Given the description of an element on the screen output the (x, y) to click on. 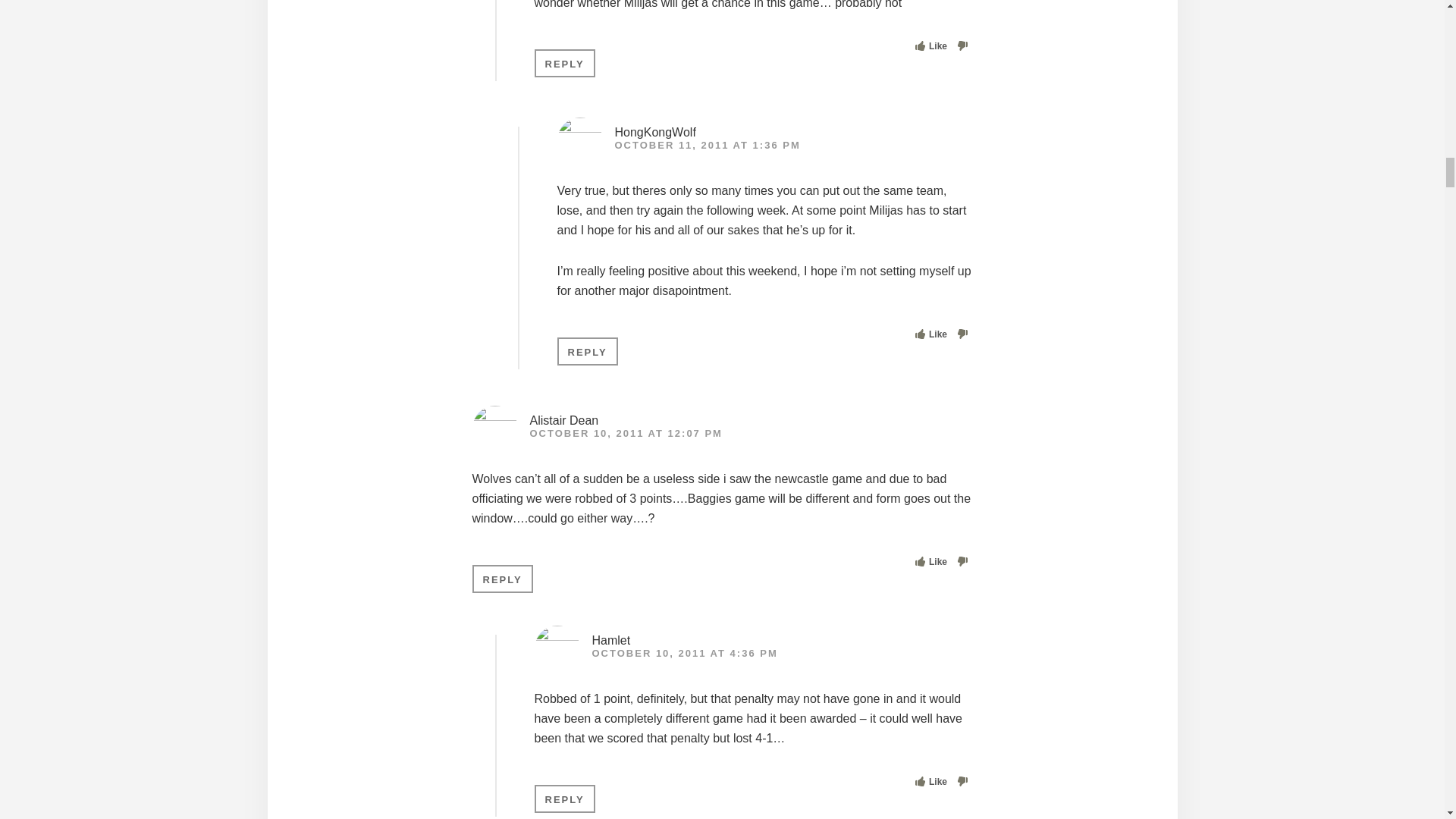
REPLY (501, 578)
OCTOBER 10, 2011 AT 4:36 PM (684, 653)
REPLY (564, 62)
REPLY (586, 351)
OCTOBER 10, 2011 AT 12:07 PM (625, 432)
OCTOBER 11, 2011 AT 1:36 PM (706, 144)
REPLY (564, 798)
